Given the description of an element on the screen output the (x, y) to click on. 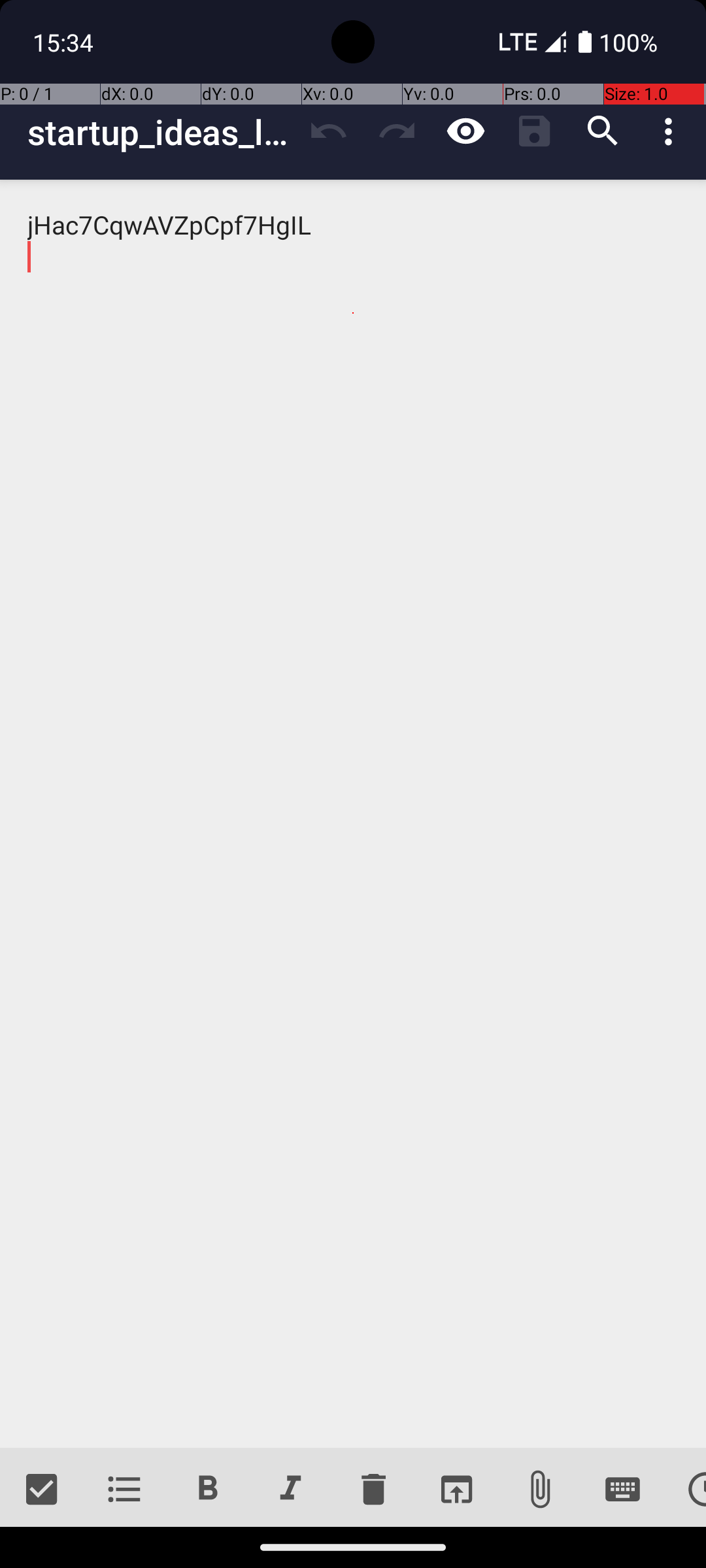
startup_ideas_launch_dqJ3 Element type: android.widget.TextView (160, 131)
jHac7CqwAVZpCpf7HgIL
 Element type: android.widget.EditText (353, 813)
